Given the description of an element on the screen output the (x, y) to click on. 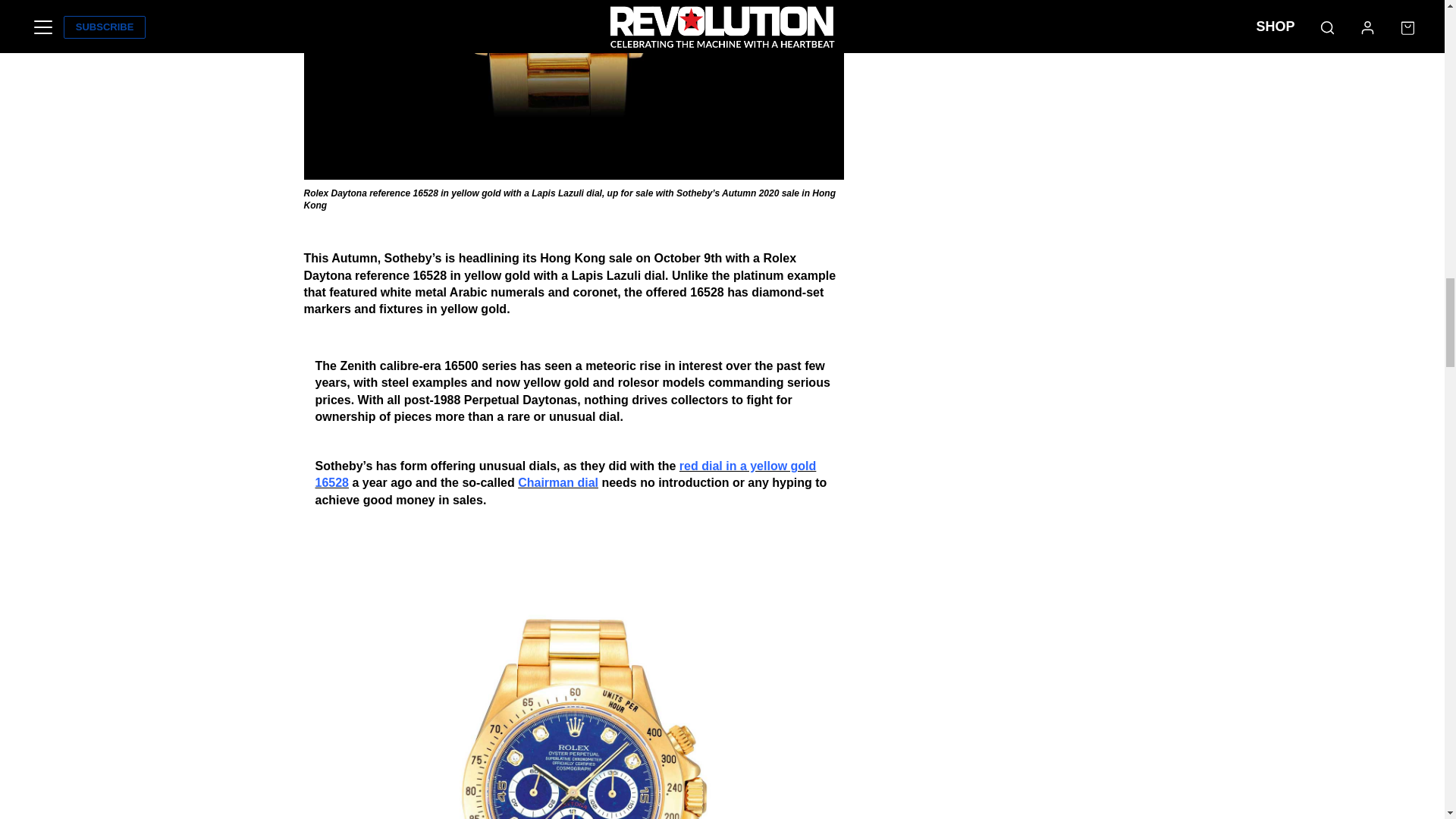
Chairman dial (558, 481)
red dial in a yellow gold 16528 (565, 473)
